Given the description of an element on the screen output the (x, y) to click on. 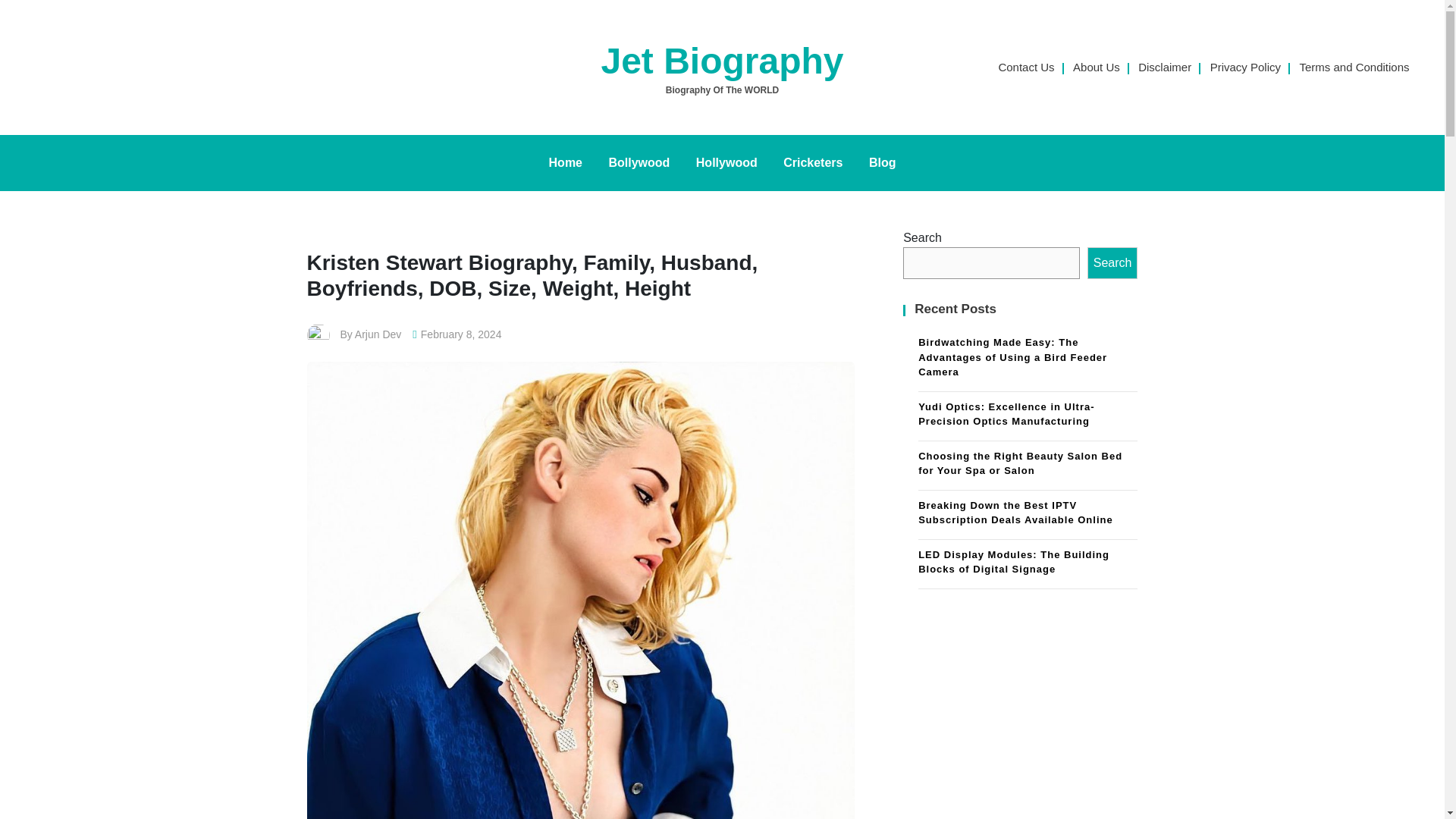
Arjun Dev (378, 334)
Privacy Policy (1245, 66)
Terms and Conditions (1353, 66)
Contact Us (1025, 66)
Hollywood (726, 162)
Disclaimer (1164, 66)
Bollywood (638, 162)
Jet Biography (721, 60)
Cricketers (812, 162)
About Us (1096, 66)
